Given the description of an element on the screen output the (x, y) to click on. 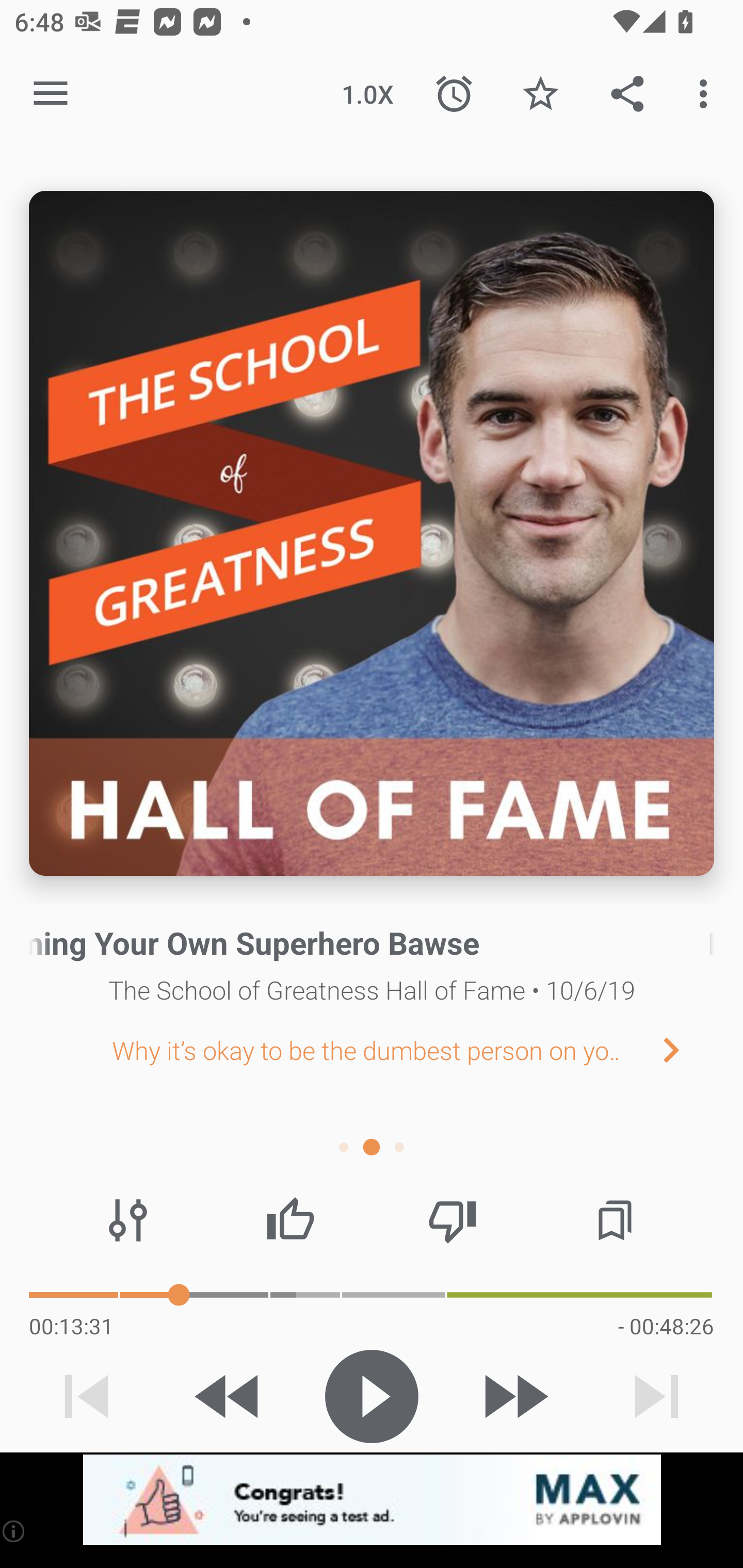
Open navigation sidebar (50, 93)
1.0X (366, 93)
Sleep Timer (453, 93)
Favorite (540, 93)
Share (626, 93)
More options (706, 93)
Episode description (371, 533)
Next Chapter (686, 1049)
Audio effects (127, 1220)
Thumbs up (290, 1220)
Thumbs down (452, 1220)
Chapters / Bookmarks (614, 1220)
- 00:48:26 (666, 1325)
Previous track (86, 1395)
Skip 15s backward (228, 1395)
Play / Pause (371, 1395)
Skip 30s forward (513, 1395)
Next track (656, 1395)
app-monetization (371, 1500)
(i) (14, 1531)
